Given the description of an element on the screen output the (x, y) to click on. 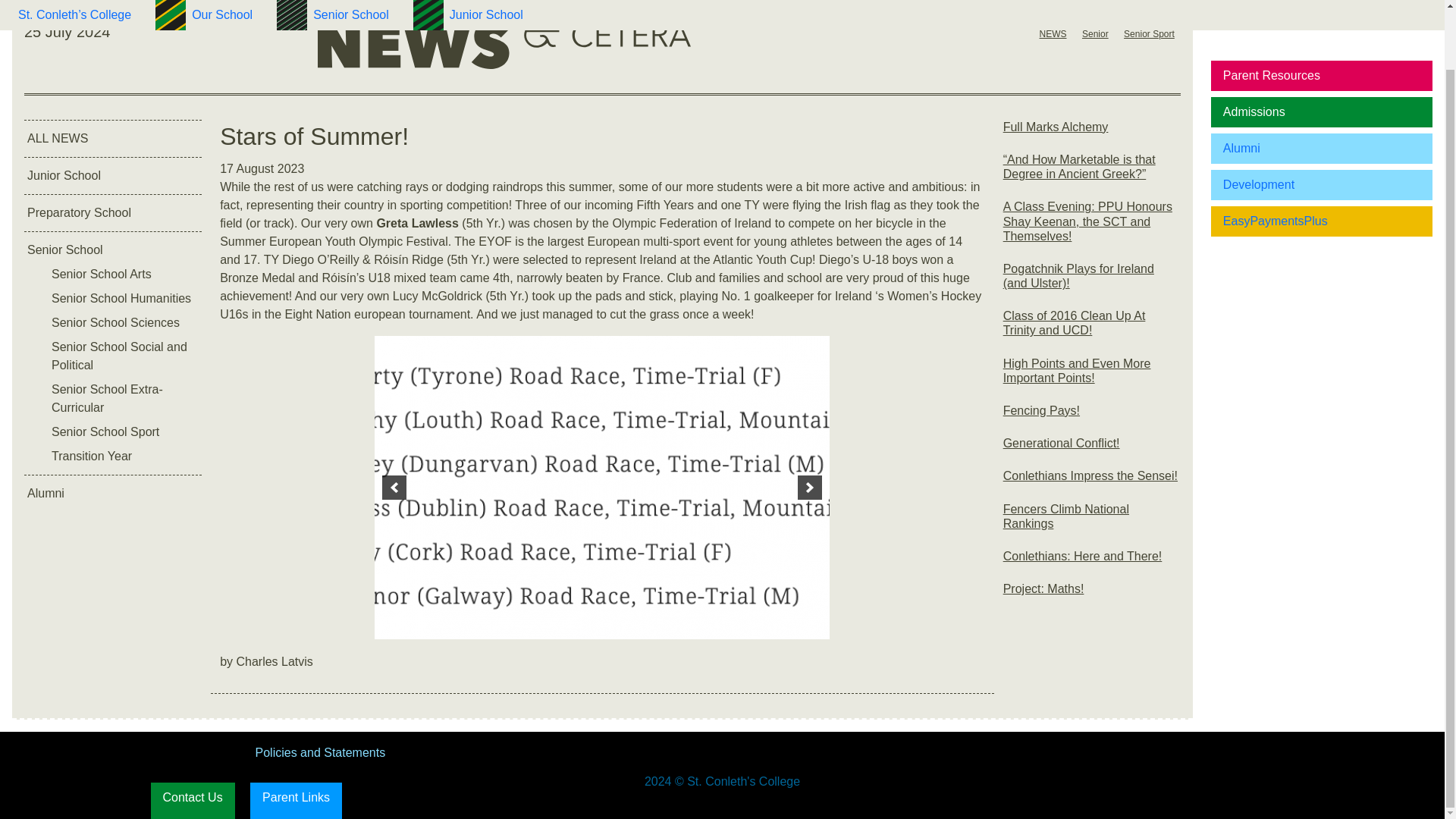
5 (748, 621)
3 (716, 621)
Alumni (113, 493)
4 (732, 621)
8 (796, 621)
NEWS (1053, 33)
Parent Resources (1321, 12)
Senior School Humanities (125, 298)
ALL NEWS (113, 138)
Senior School Social and Political (125, 355)
Transition Year (125, 456)
7 (780, 621)
Senior Sport (1149, 33)
Admissions (1321, 46)
Alumni (1321, 82)
